Given the description of an element on the screen output the (x, y) to click on. 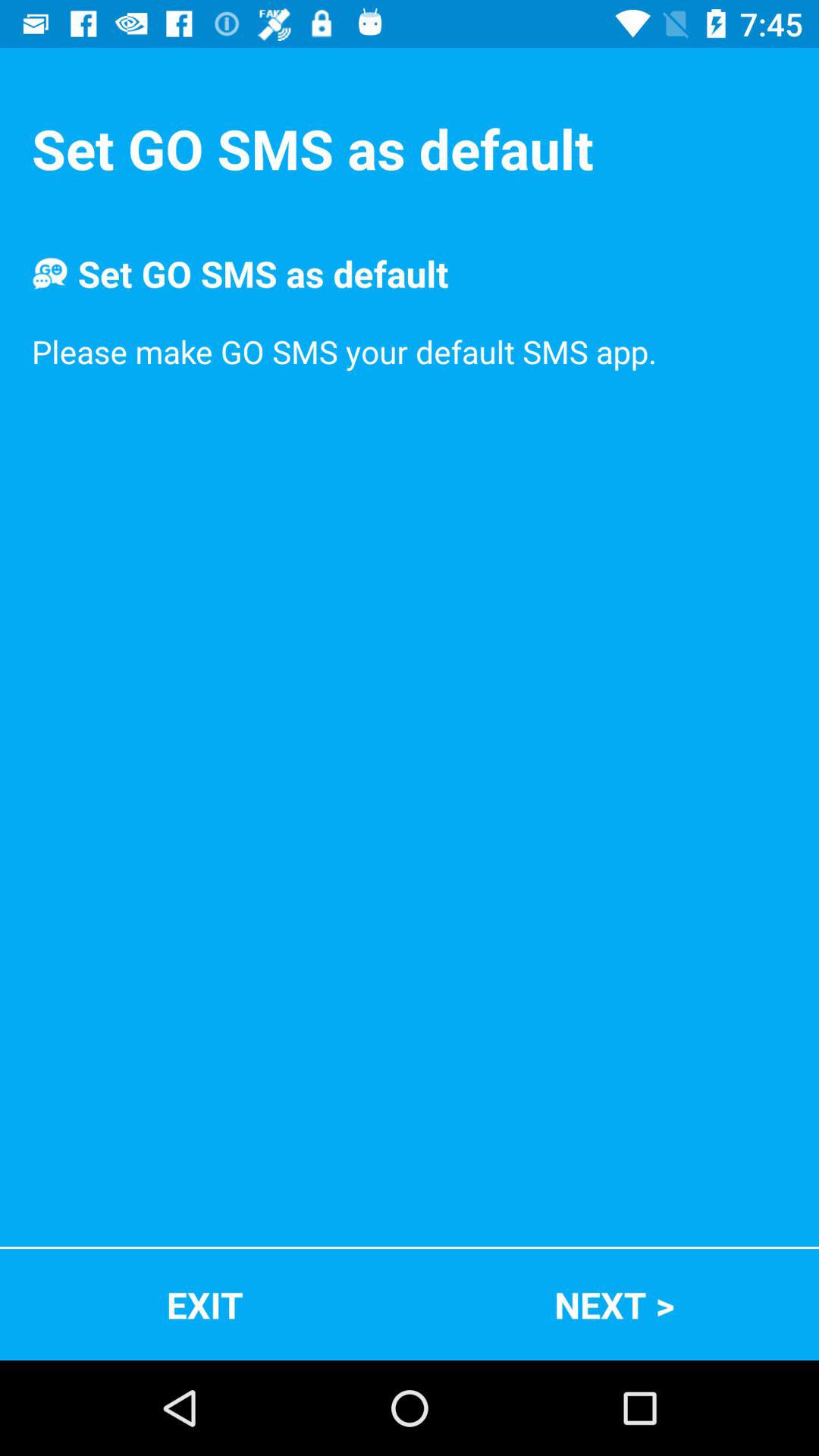
turn off the item at the bottom right corner (614, 1304)
